Given the description of an element on the screen output the (x, y) to click on. 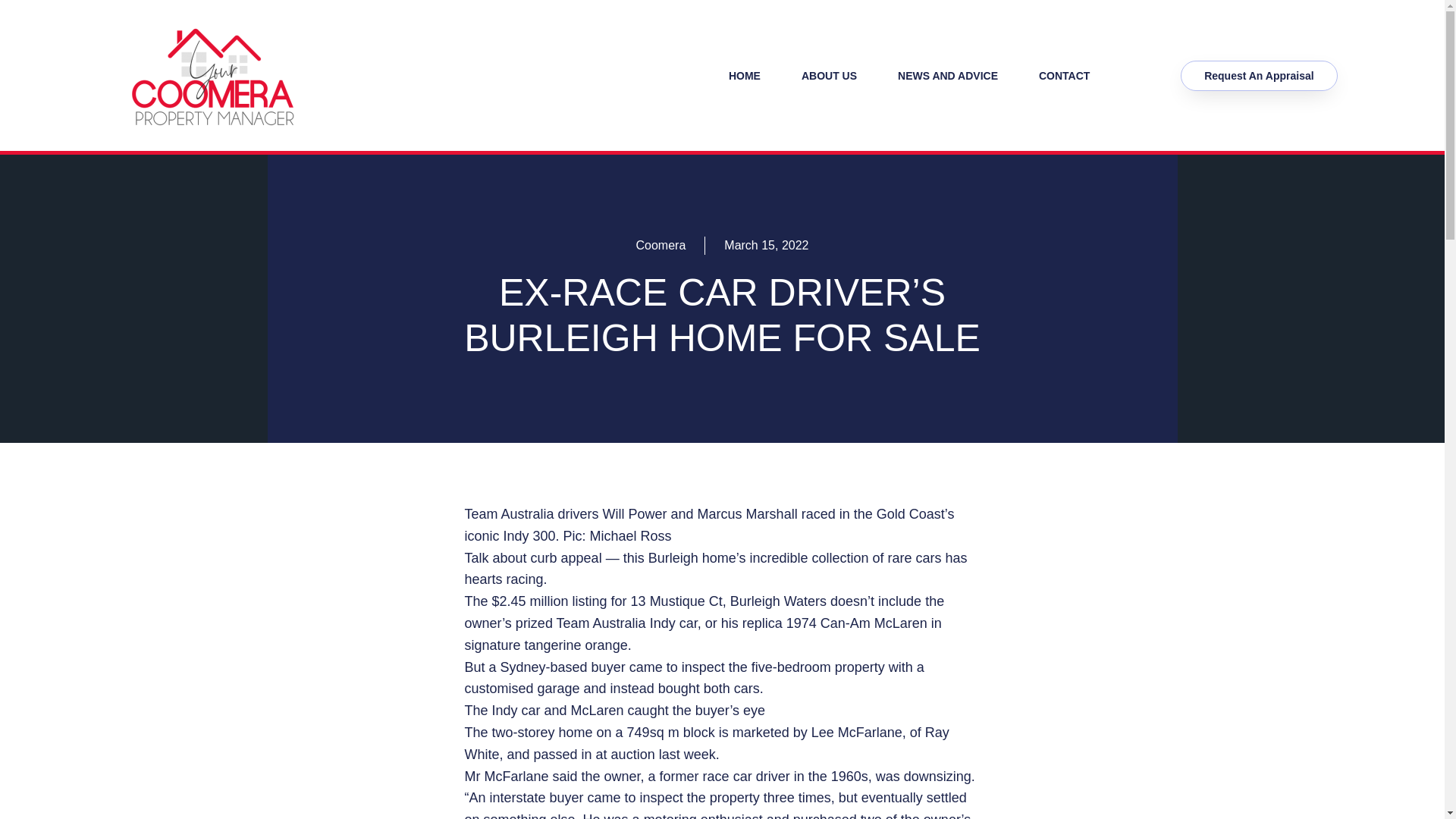
CONTACT (1063, 74)
Coomera (659, 245)
March 15, 2022 (765, 245)
Request An Appraisal (1258, 75)
HOME (743, 74)
ABOUT US (828, 74)
NEWS AND ADVICE (947, 74)
